Given the description of an element on the screen output the (x, y) to click on. 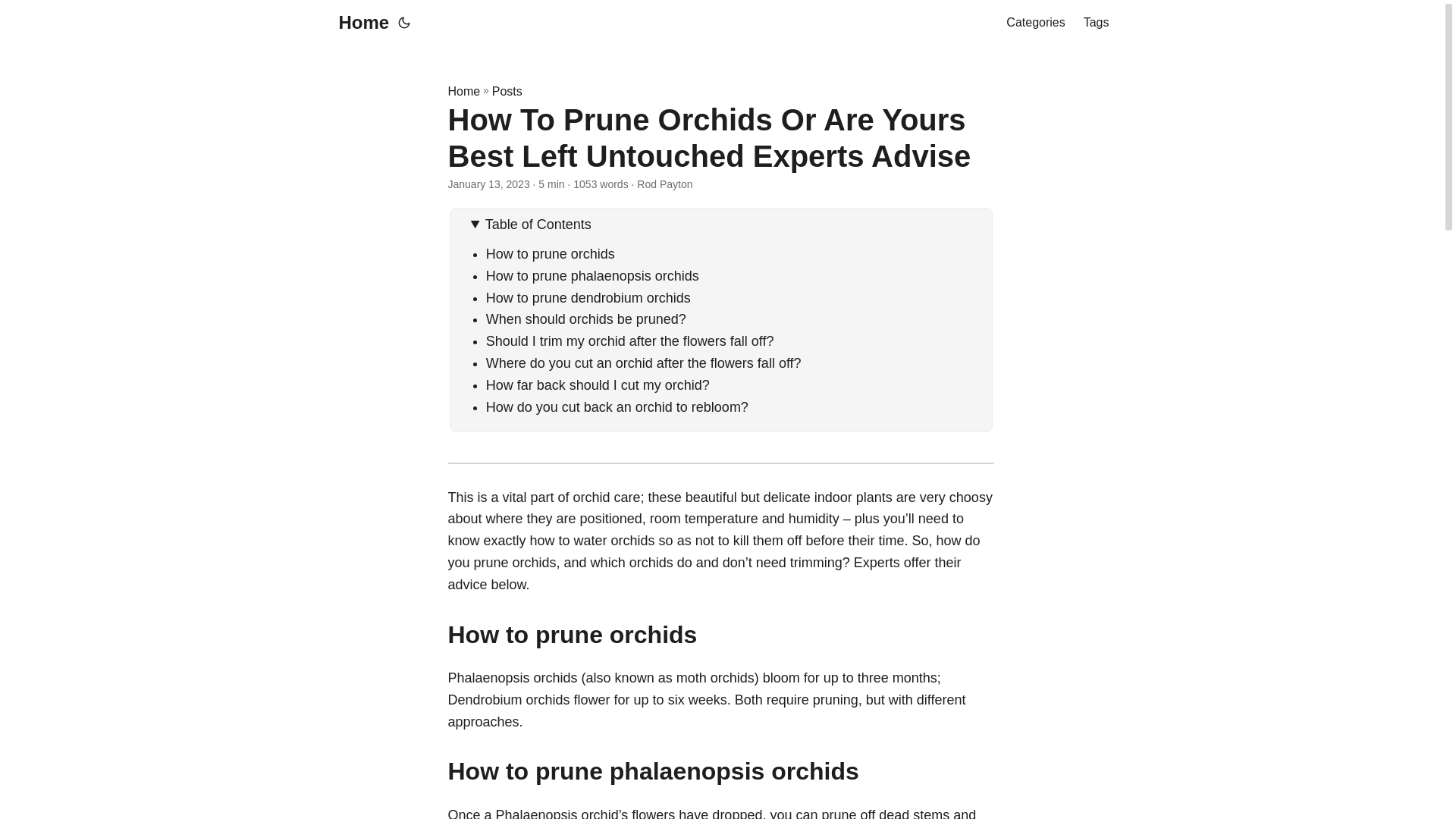
Home (359, 22)
How do you cut back an orchid to rebloom? (617, 406)
Posts (507, 91)
How to prune dendrobium orchids (588, 297)
Categories (1035, 22)
Home (463, 91)
How to prune orchids (550, 253)
Categories (1035, 22)
How far back should I cut my orchid? (598, 385)
Where do you cut an orchid after the flowers fall off? (644, 363)
